Given the description of an element on the screen output the (x, y) to click on. 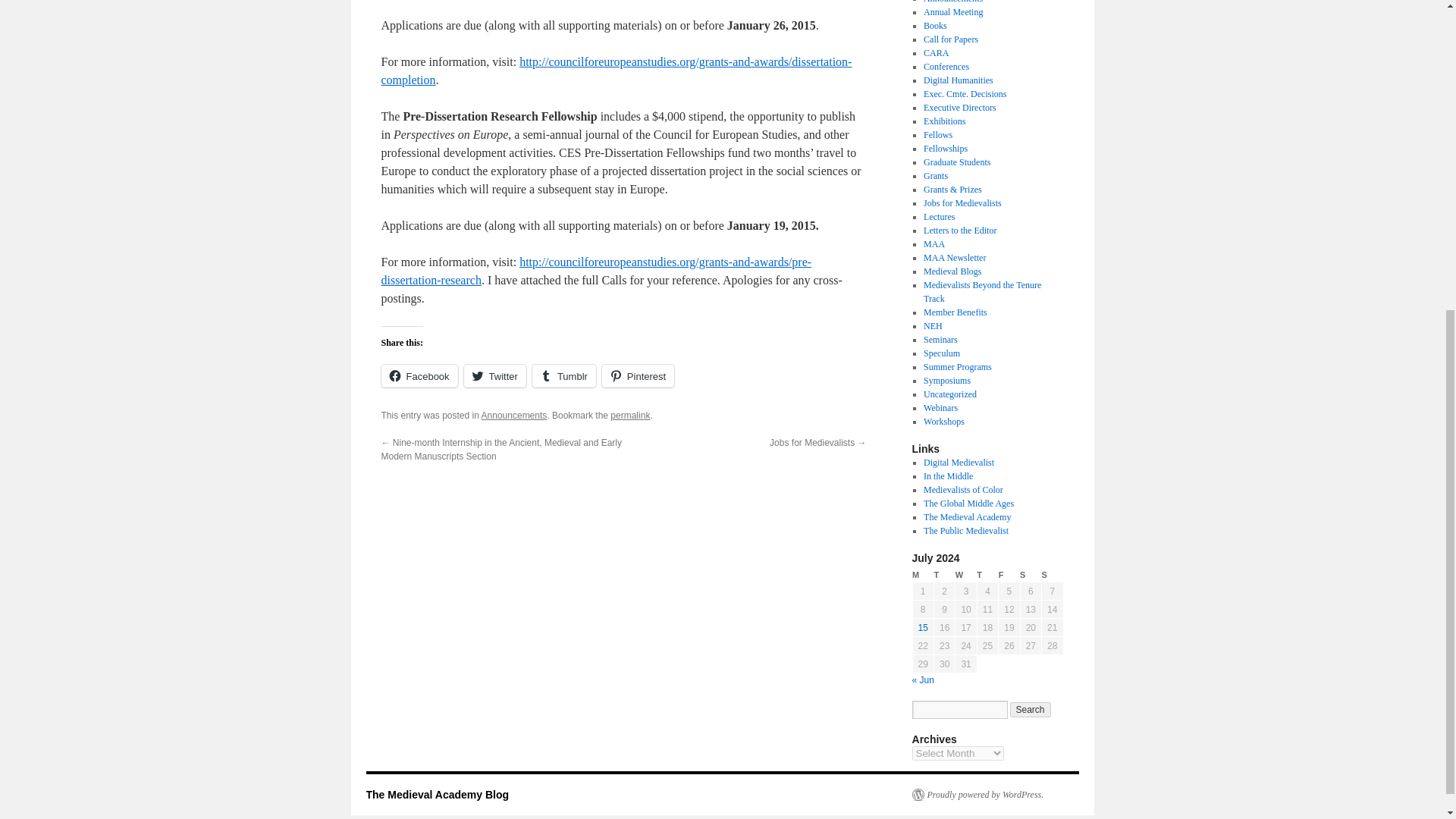
Conferences (946, 66)
Announcements (952, 2)
Digital Humanities (957, 80)
Fellows (937, 134)
Thursday (986, 575)
Monday (922, 575)
Annual Meeting (952, 11)
Announcements (514, 415)
Click to share on Twitter (494, 375)
Exec. Cmte. Decisions (964, 93)
Books (935, 25)
Graduate Students (956, 162)
Exhibitions (944, 121)
Facebook (418, 375)
